Given the description of an element on the screen output the (x, y) to click on. 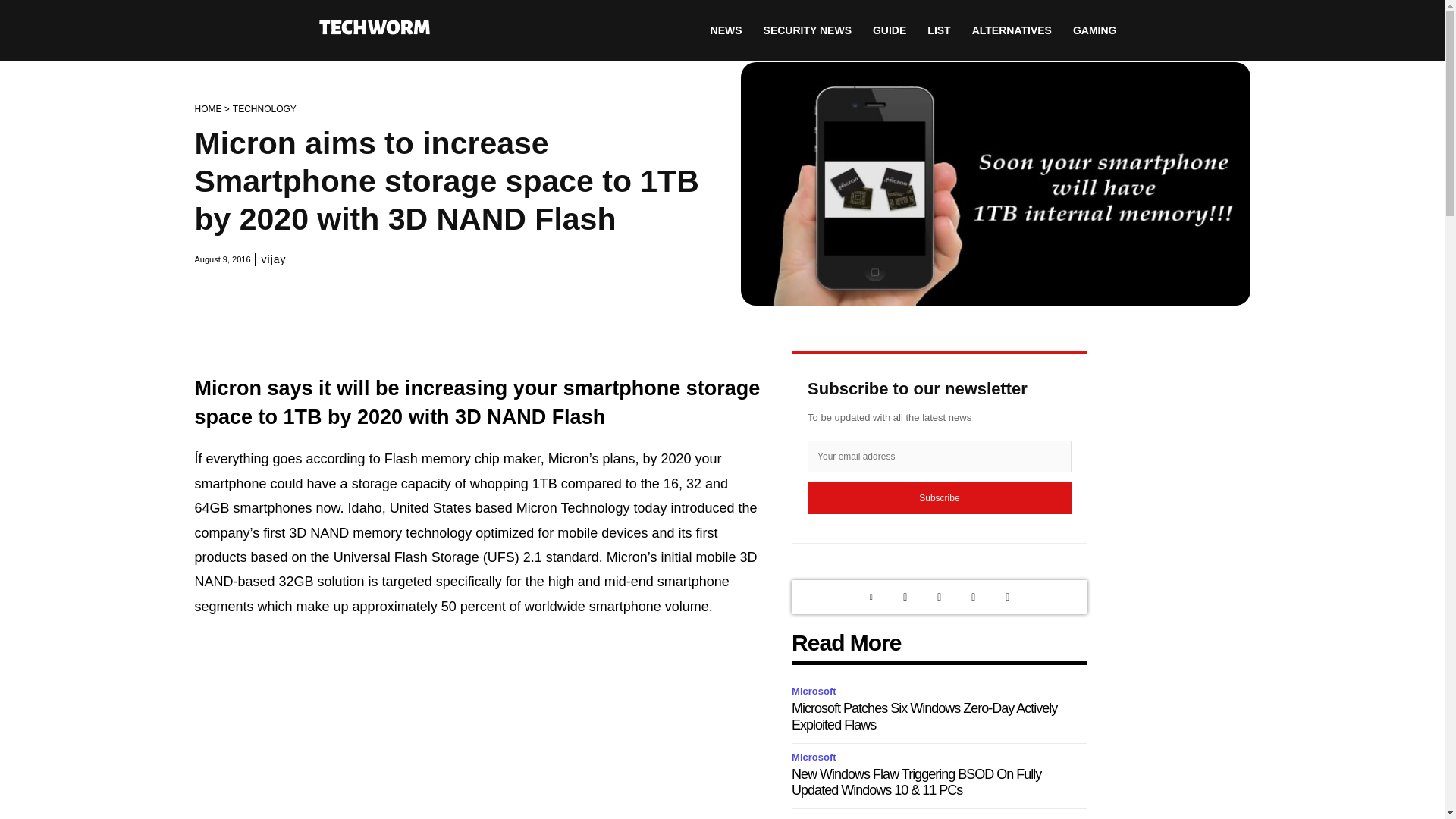
Linkedin (870, 596)
Microsoft (816, 692)
ALTERNATIVES (1011, 30)
Subscribe (939, 498)
GUIDE (889, 30)
vijay (274, 259)
SECURITY NEWS (806, 30)
TECHNOLOGY (264, 109)
